Given the description of an element on the screen output the (x, y) to click on. 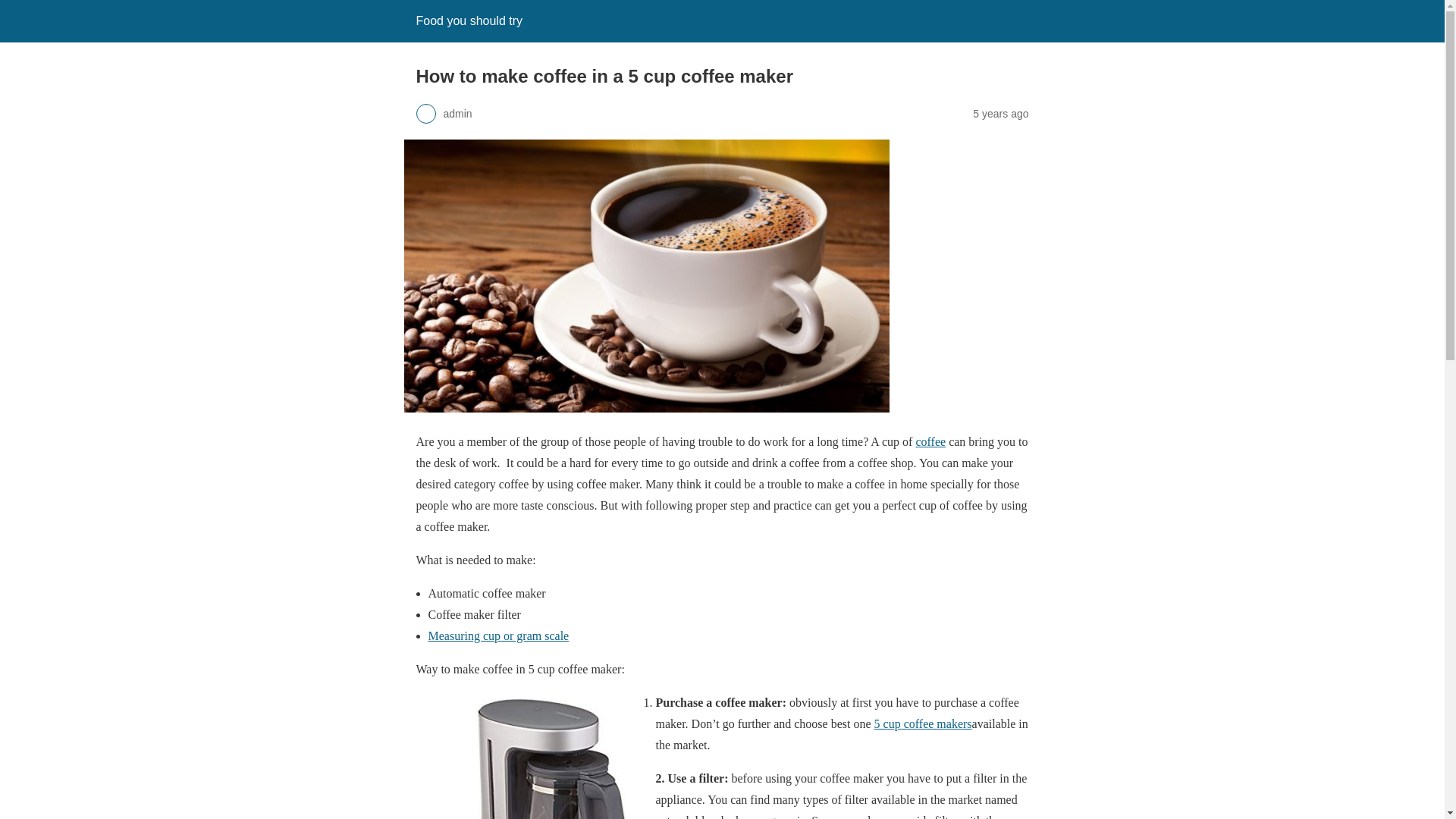
coffee (929, 440)
Measuring cup or gram scale (498, 635)
coffee (929, 440)
Food you should try (468, 20)
5 cup coffee makers (923, 723)
